Given the description of an element on the screen output the (x, y) to click on. 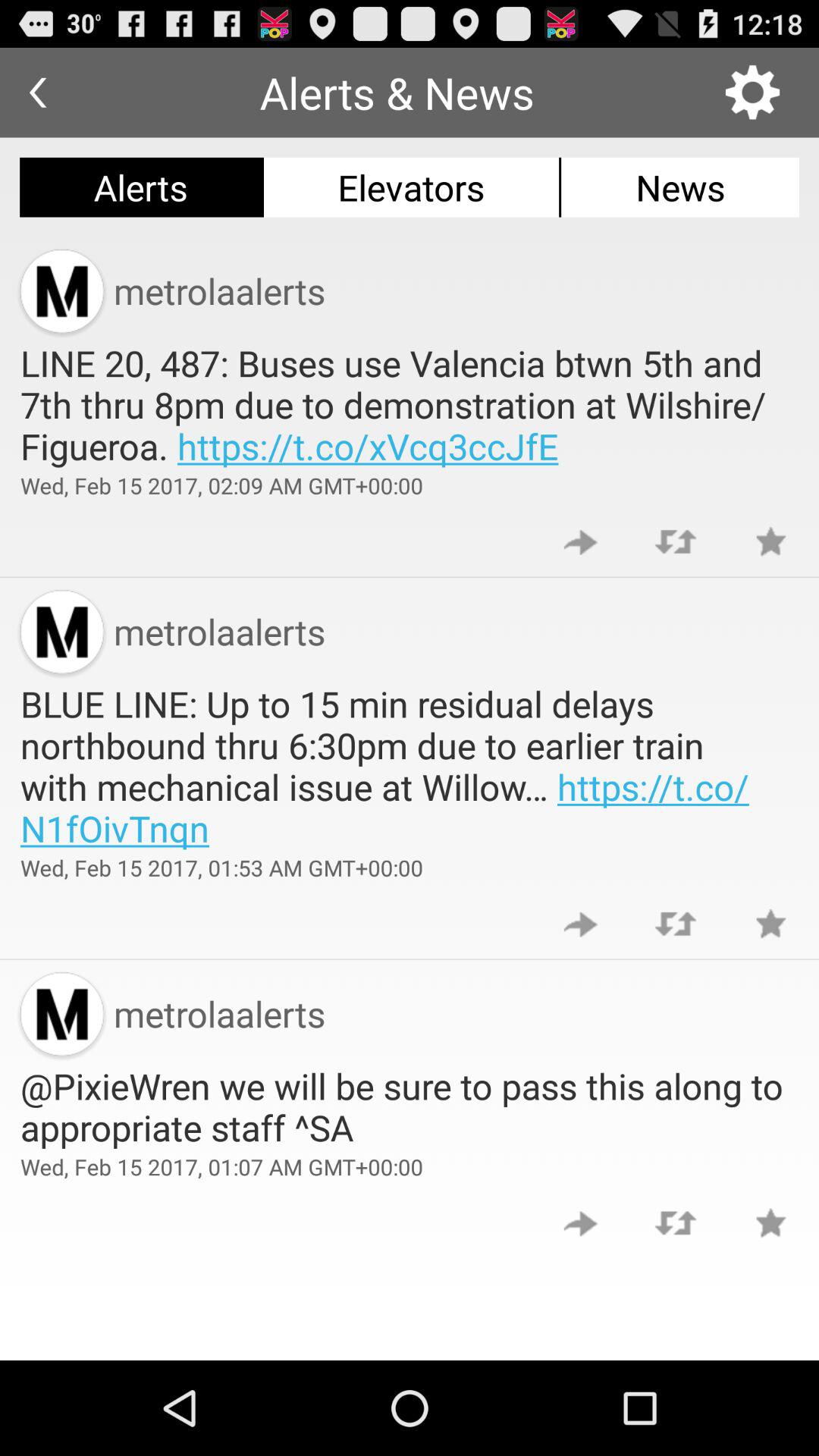
choose the app above wed feb 15 (409, 1106)
